Given the description of an element on the screen output the (x, y) to click on. 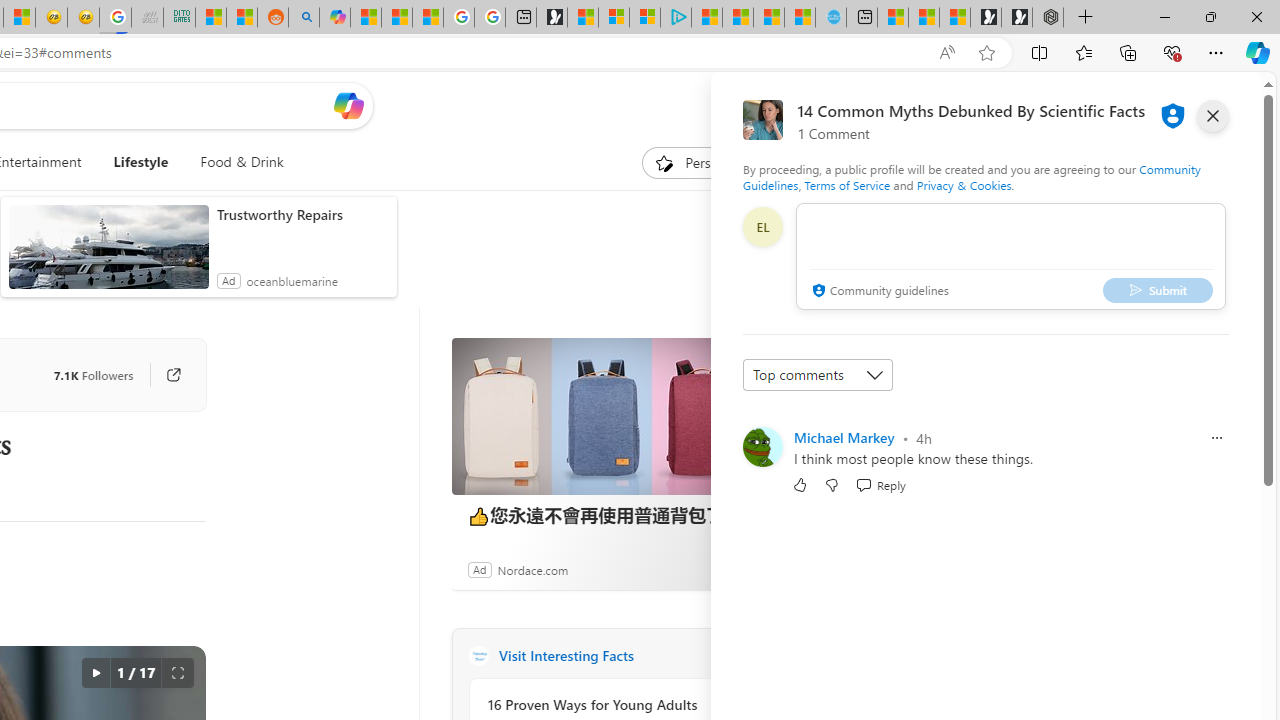
Lifestyle (141, 162)
Go to publisher's site (163, 374)
comment-box (1011, 256)
Privacy & Cookies (964, 184)
close (1212, 115)
Profile Picture (762, 446)
